Given the description of an element on the screen output the (x, y) to click on. 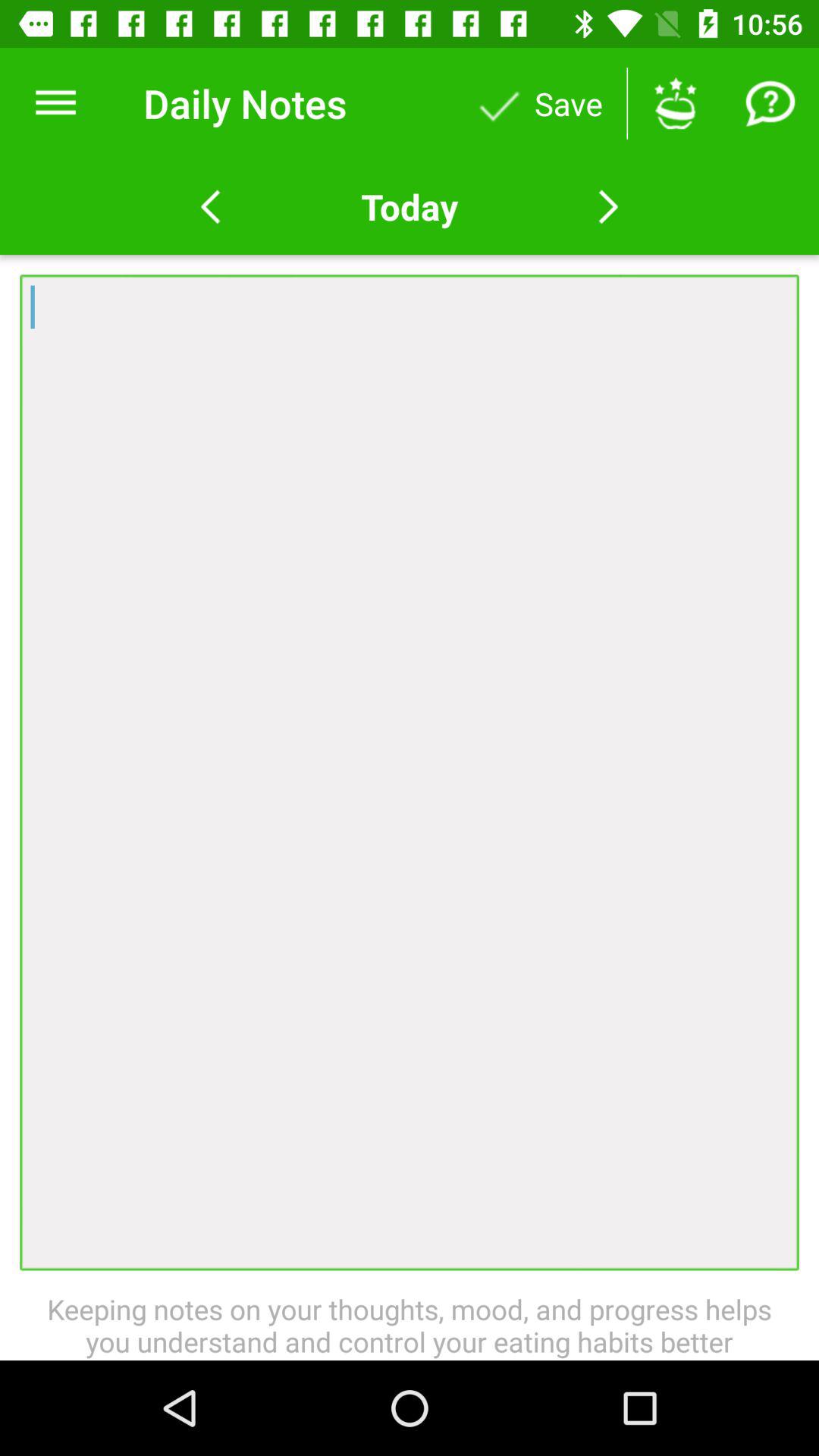
next day (608, 206)
